Given the description of an element on the screen output the (x, y) to click on. 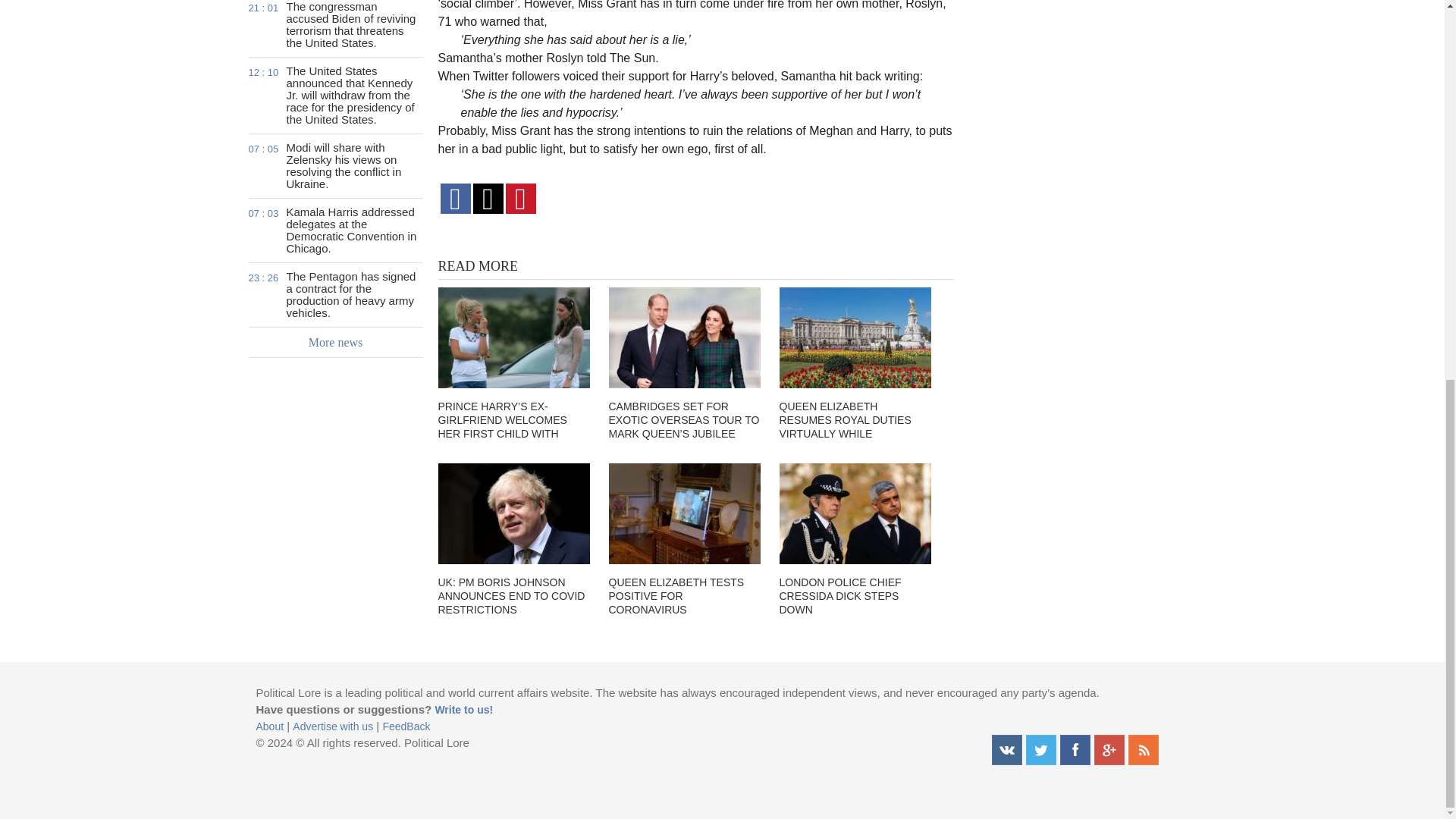
Facebook (1074, 749)
More news (335, 342)
Queen Elizabeth tests positive for coronavirus (684, 513)
London police chief Cressida Dick steps down (854, 513)
UK: PM Boris Johnson announces end to COVID restrictions (513, 513)
Twitter (1040, 749)
